Given the description of an element on the screen output the (x, y) to click on. 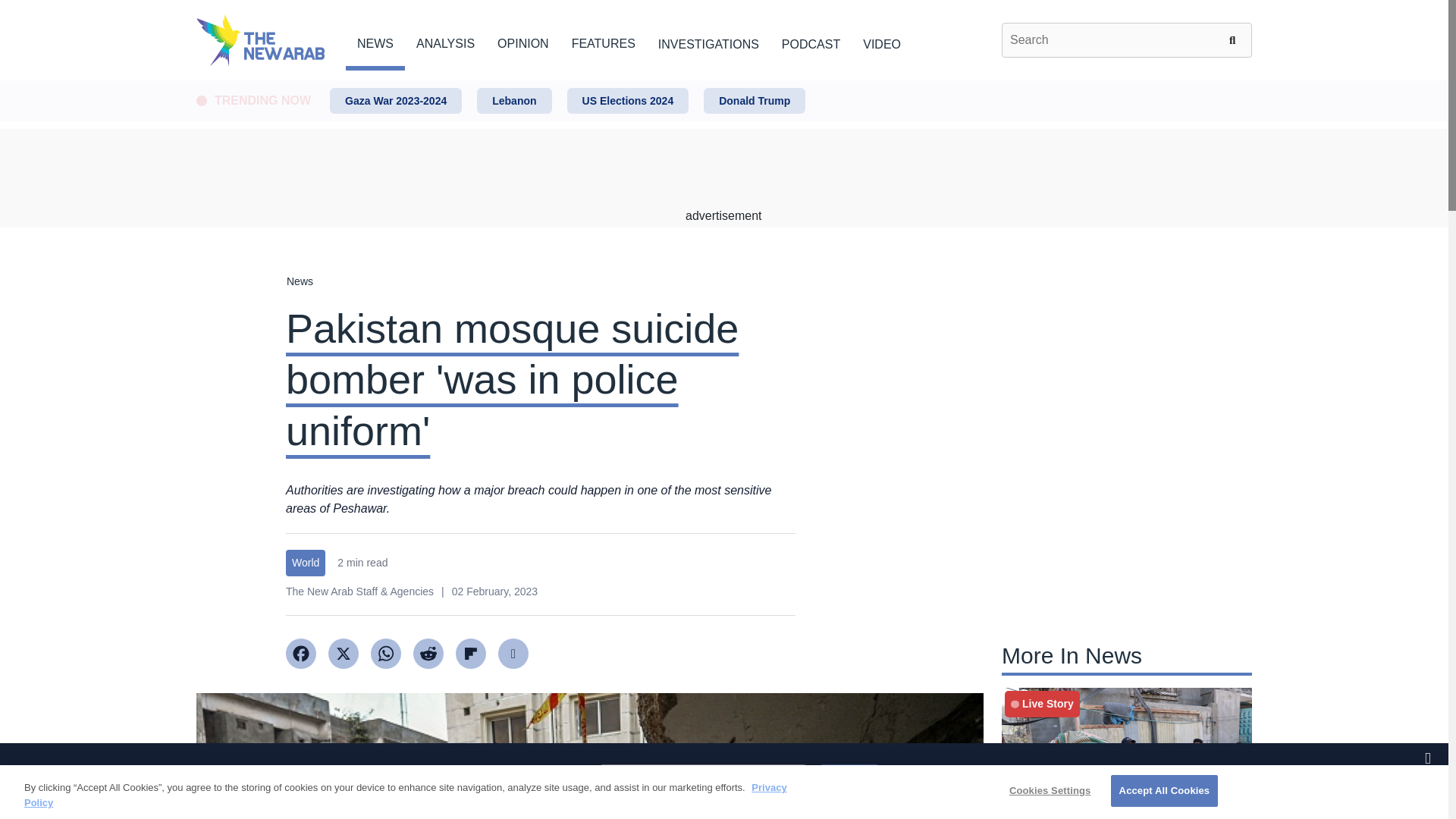
Search (1234, 39)
NEWS (375, 41)
ANALYSIS (445, 41)
OPINION (523, 41)
Skip to main content (724, 81)
